Given the description of an element on the screen output the (x, y) to click on. 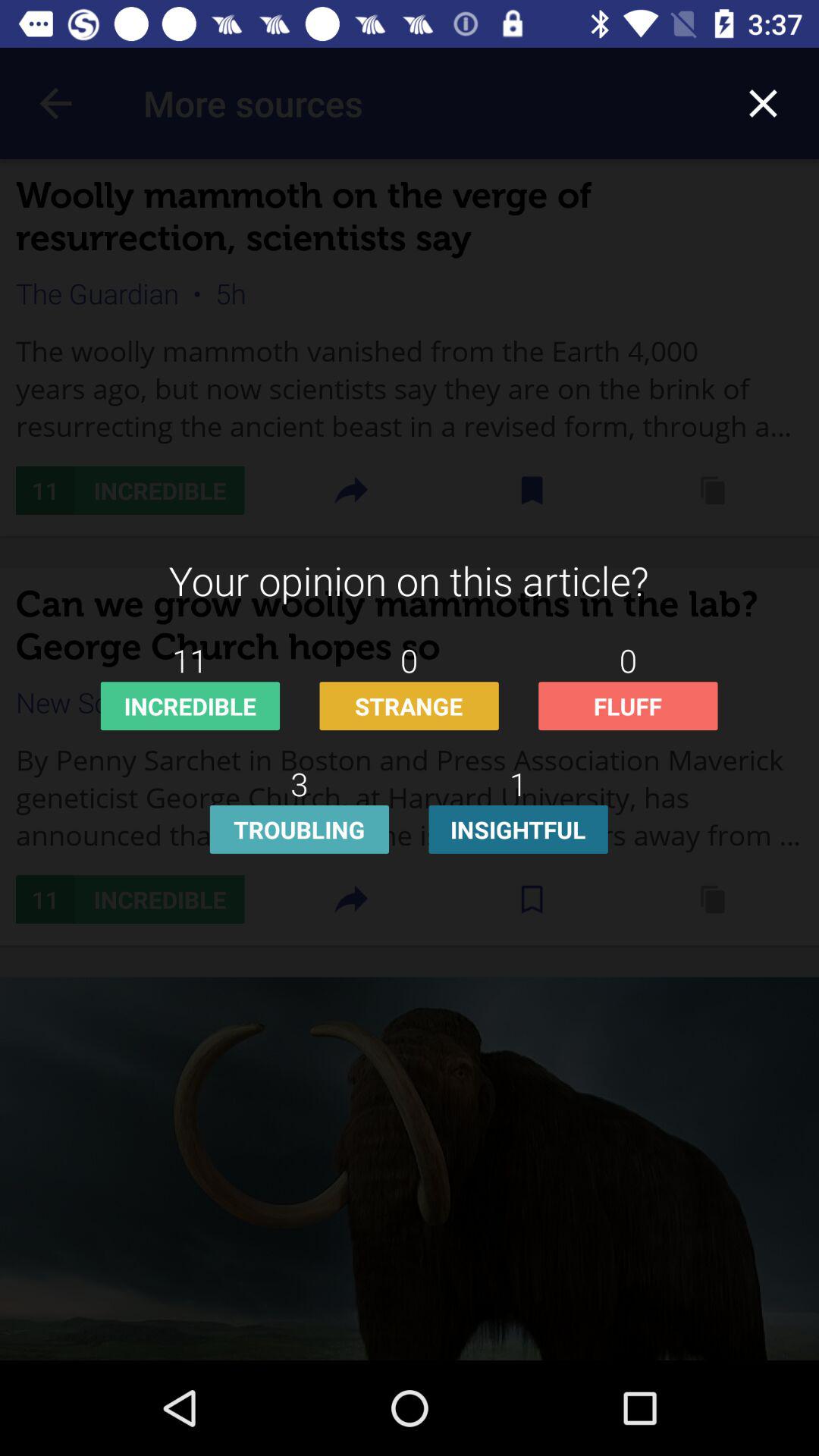
open item at the top right corner (763, 103)
